Given the description of an element on the screen output the (x, y) to click on. 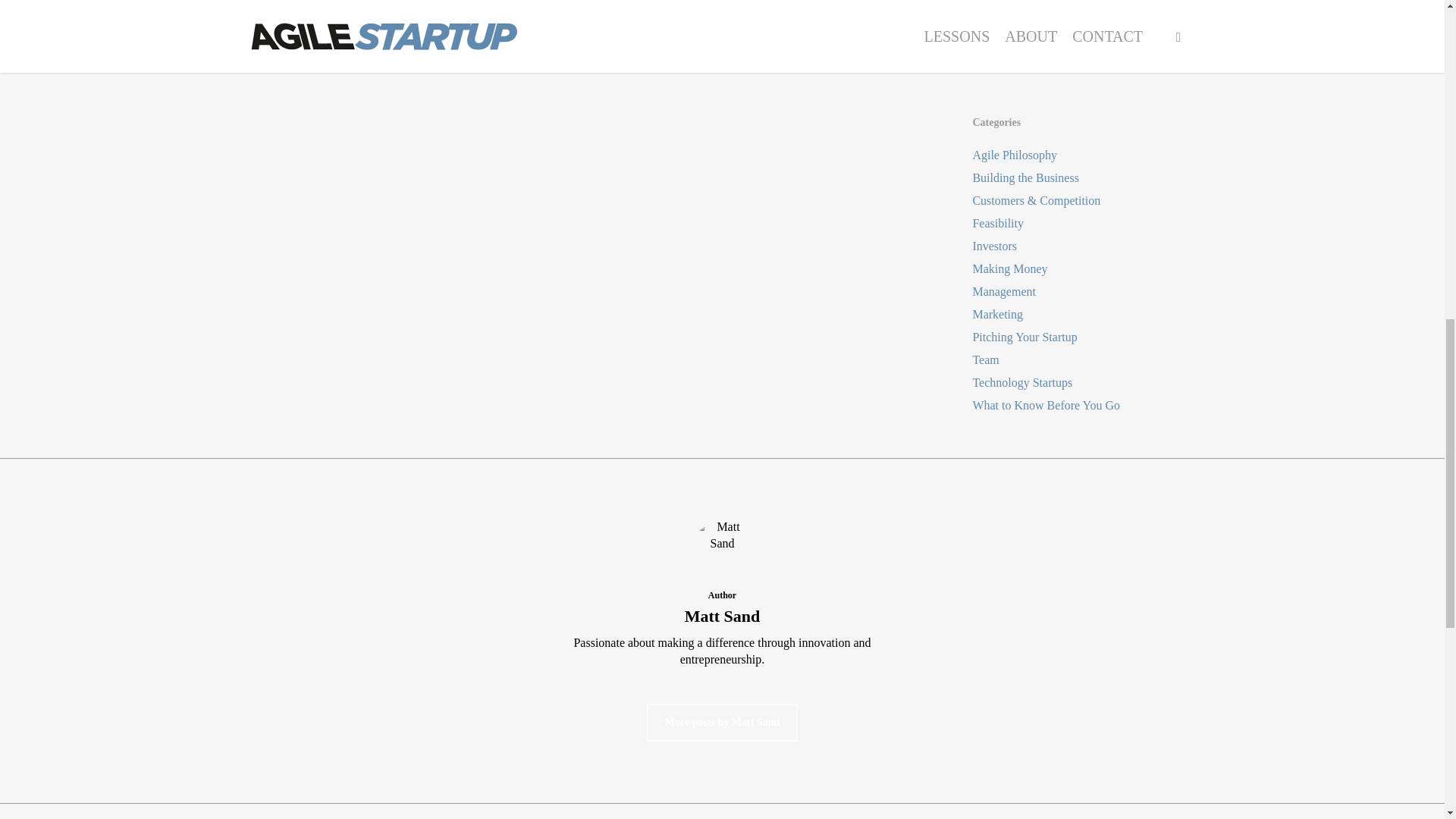
Pitching Your Startup (1082, 337)
Building the Business (1082, 177)
Speed is of the Essence (1082, 38)
What to Know Before You Go (1082, 405)
Feasibility (1082, 223)
Investors (1082, 246)
Team (1082, 360)
Management (1082, 291)
Horses for Courses (1082, 61)
Technology Startups (1082, 382)
